Given the description of an element on the screen output the (x, y) to click on. 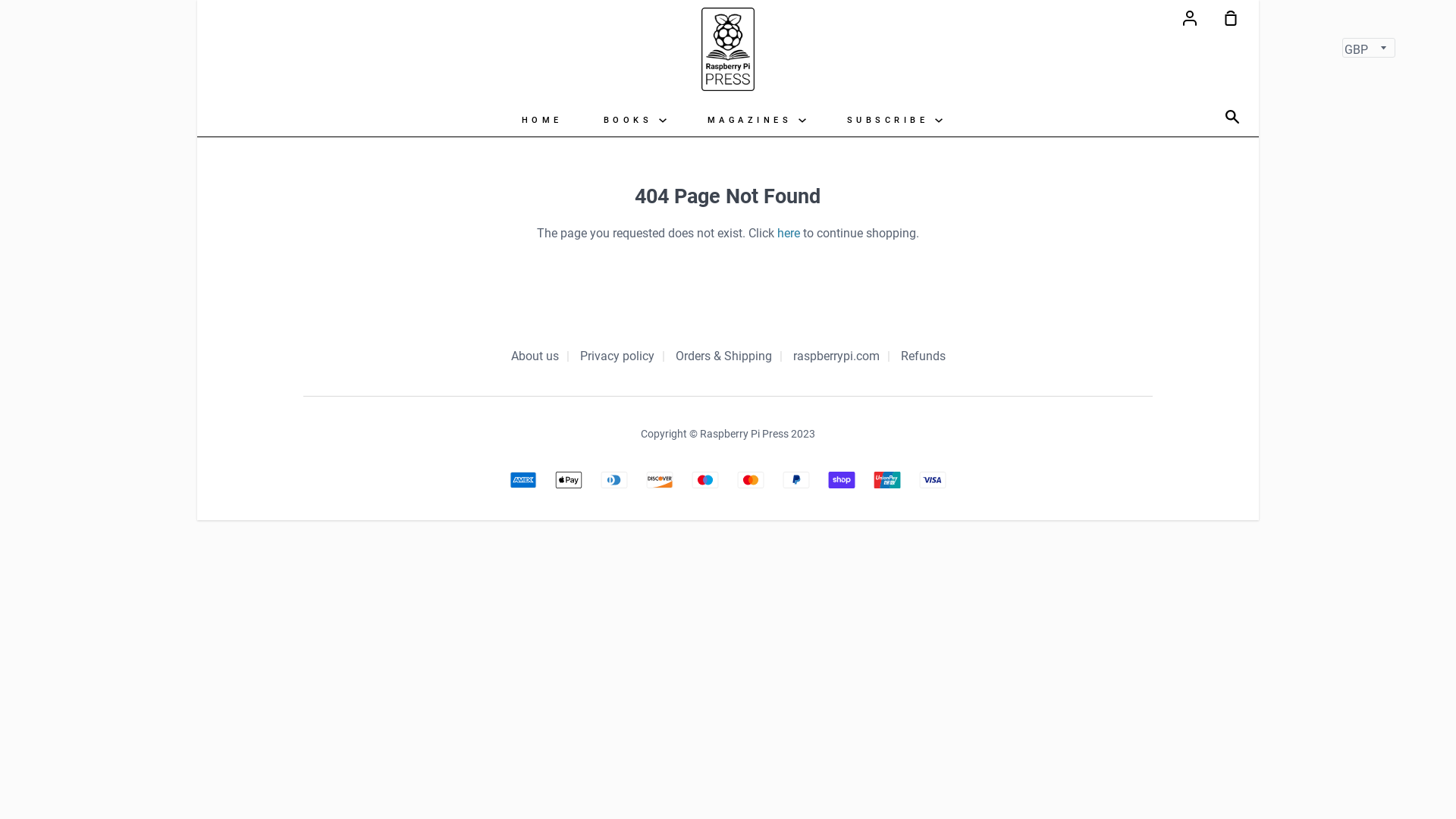
About us Element type: text (534, 357)
Privacy policy Element type: text (616, 357)
BOOKS Element type: text (634, 119)
raspberrypi.com Element type: text (836, 357)
SUBSCRIBE Element type: text (894, 119)
Search Element type: text (1235, 117)
Shopping Cart Element type: text (1224, 17)
Orders & Shipping Element type: text (722, 357)
here Element type: text (788, 232)
HOME Element type: text (541, 119)
Account Element type: text (1189, 17)
Refunds Element type: text (922, 357)
MAGAZINES Element type: text (756, 119)
